Given the description of an element on the screen output the (x, y) to click on. 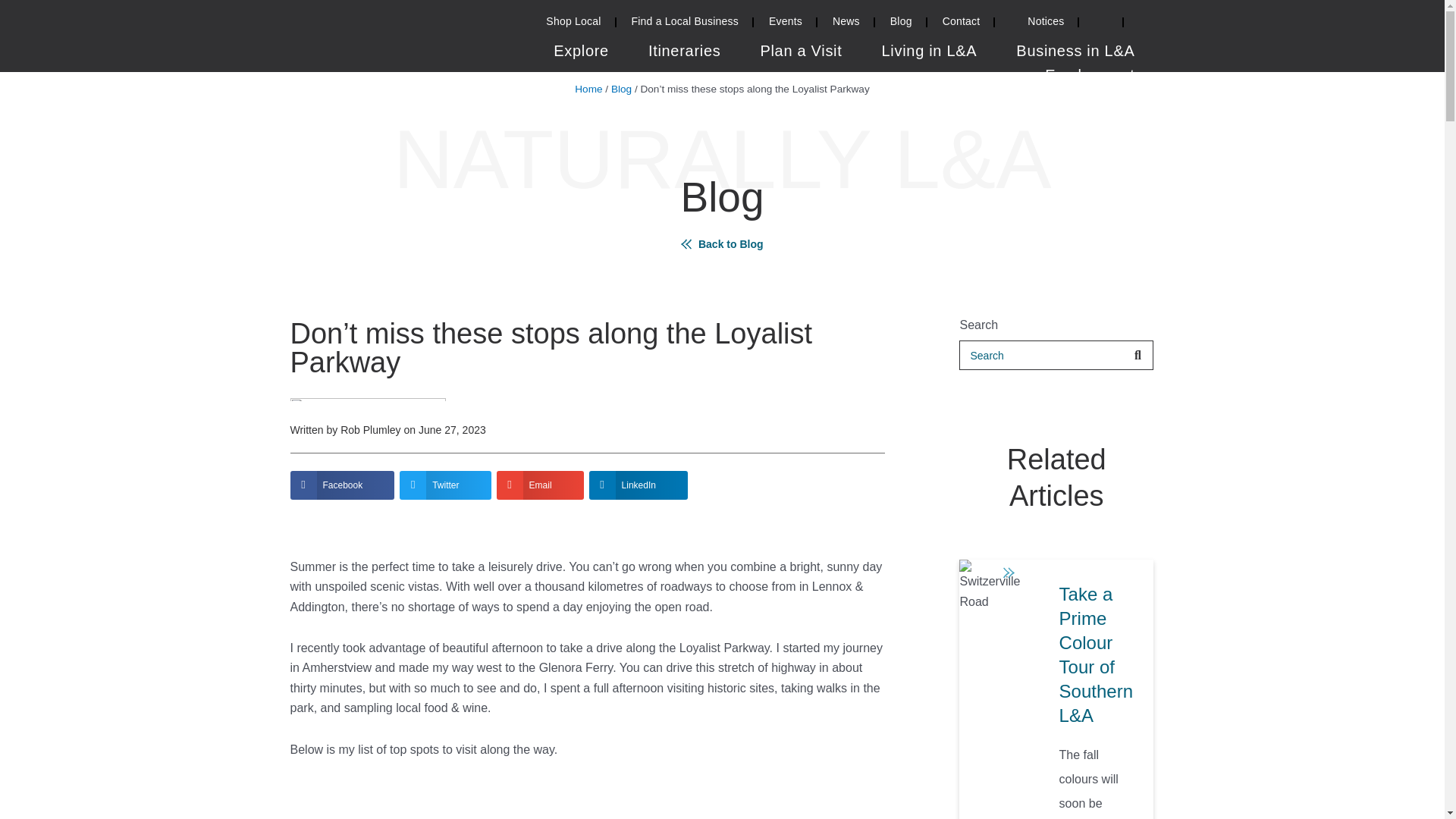
Shop Local (573, 24)
News (845, 24)
Find a Local Business (683, 24)
Contact (961, 24)
Blog (901, 24)
Notices (1036, 24)
Accessibility (1139, 24)
Search (1101, 24)
Explore (581, 55)
Events (785, 24)
